Given the description of an element on the screen output the (x, y) to click on. 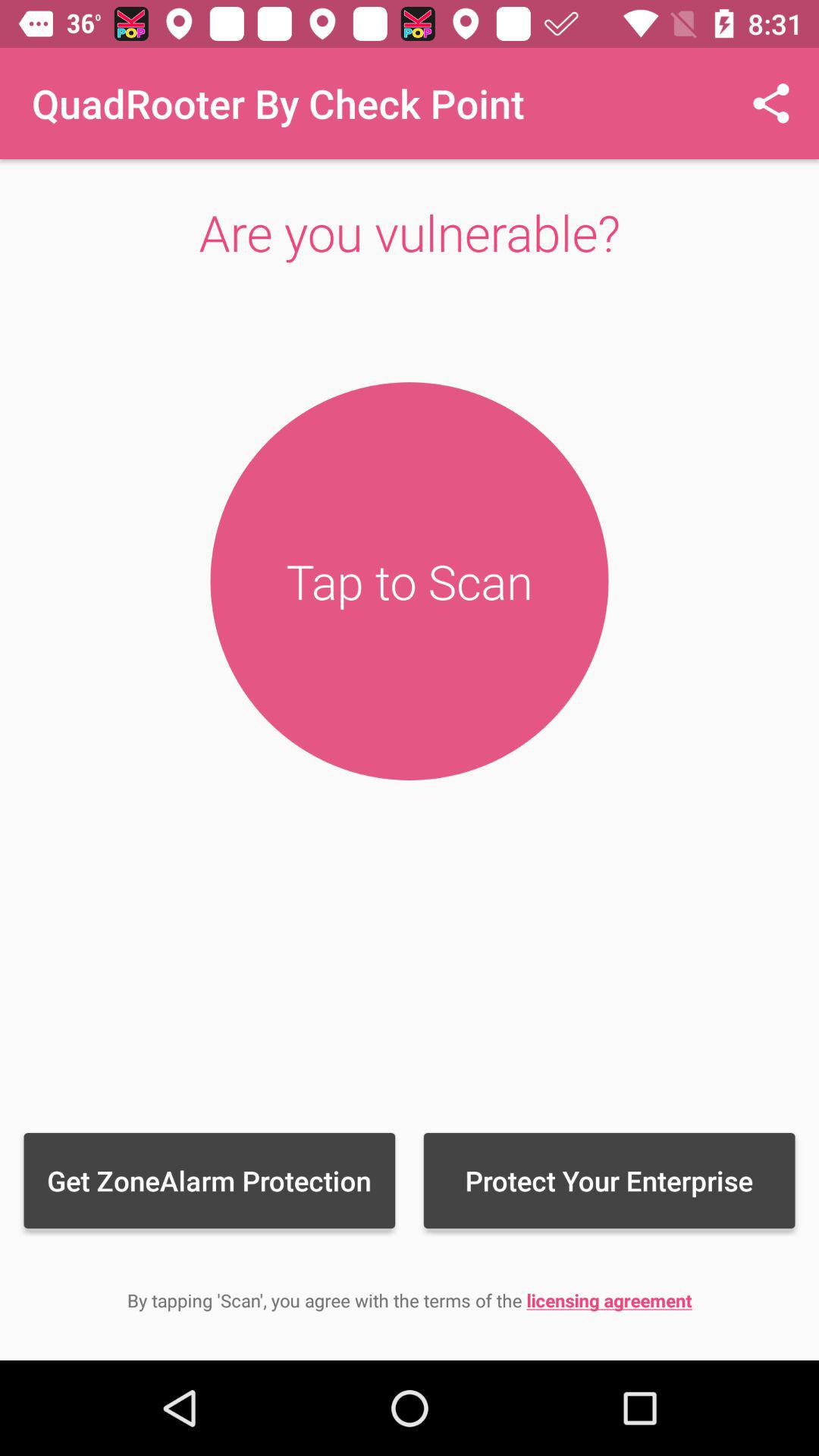
button to scan something (409, 581)
